Given the description of an element on the screen output the (x, y) to click on. 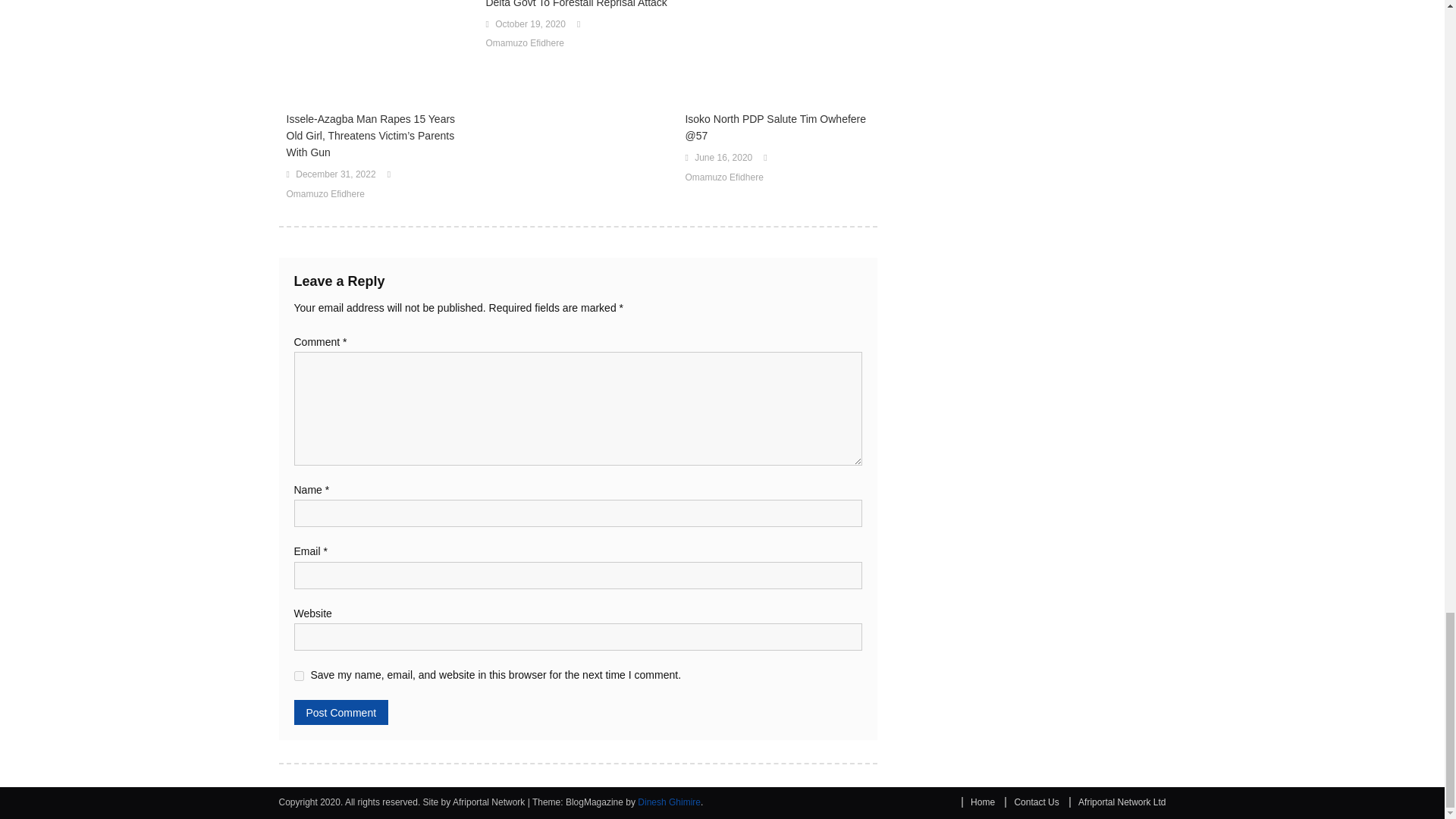
June 16, 2020 (723, 158)
October 19, 2020 (530, 24)
Omamuzo Efidhere (723, 177)
Omamuzo Efidhere (325, 194)
Post Comment (341, 712)
Omamuzo Efidhere (523, 44)
December 31, 2022 (335, 175)
yes (299, 675)
